Given the description of an element on the screen output the (x, y) to click on. 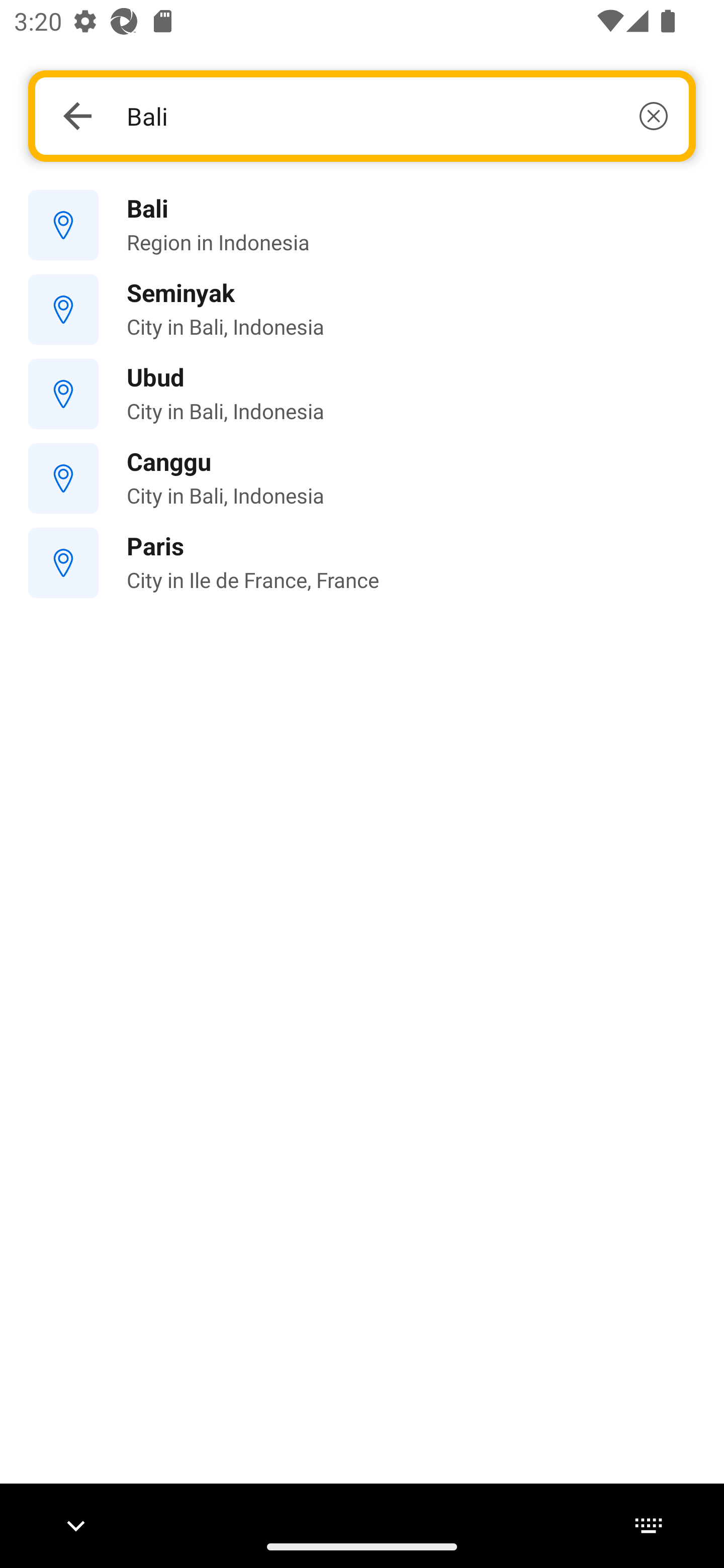
Bali (396, 115)
Bali Region in Indonesia (362, 225)
Seminyak City in Bali, Indonesia (362, 309)
Ubud City in Bali, Indonesia (362, 393)
Canggu City in Bali, Indonesia (362, 477)
Paris City in Ile de France, France (362, 562)
